Given the description of an element on the screen output the (x, y) to click on. 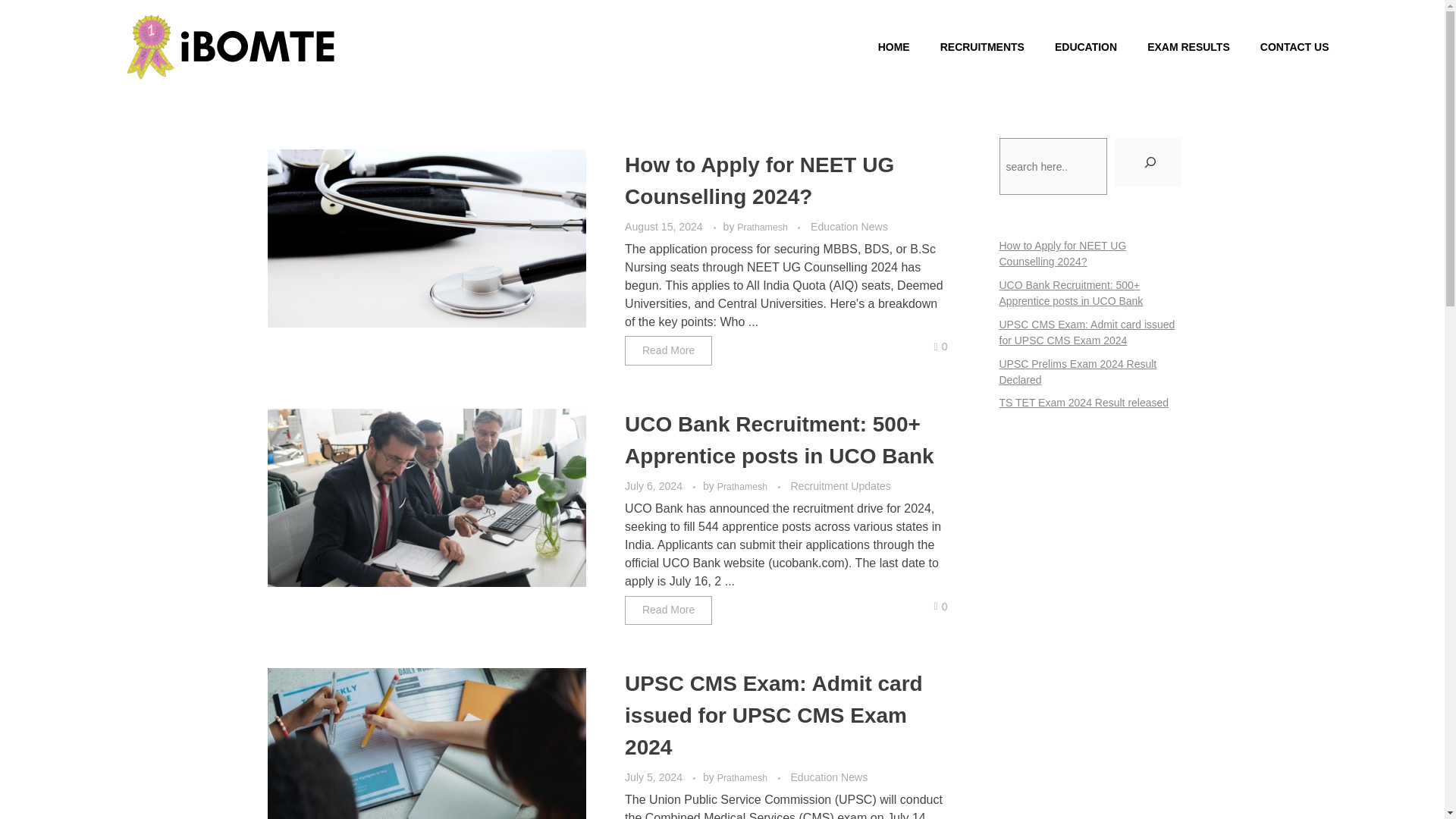
IBOMTE (150, 87)
EDUCATION (1070, 47)
July 5, 2024 (654, 776)
August 15, 2024 (664, 226)
View all posts in Education News (828, 777)
How to Apply for NEET UG Counselling 2024? (758, 180)
View all posts in Recruitment Updates (839, 486)
View all posts by Prathamesh (743, 777)
UPSC CMS Exam: Admit card issued for UPSC CMS Exam 2024 (773, 715)
IBOMTE (150, 87)
